Given the description of an element on the screen output the (x, y) to click on. 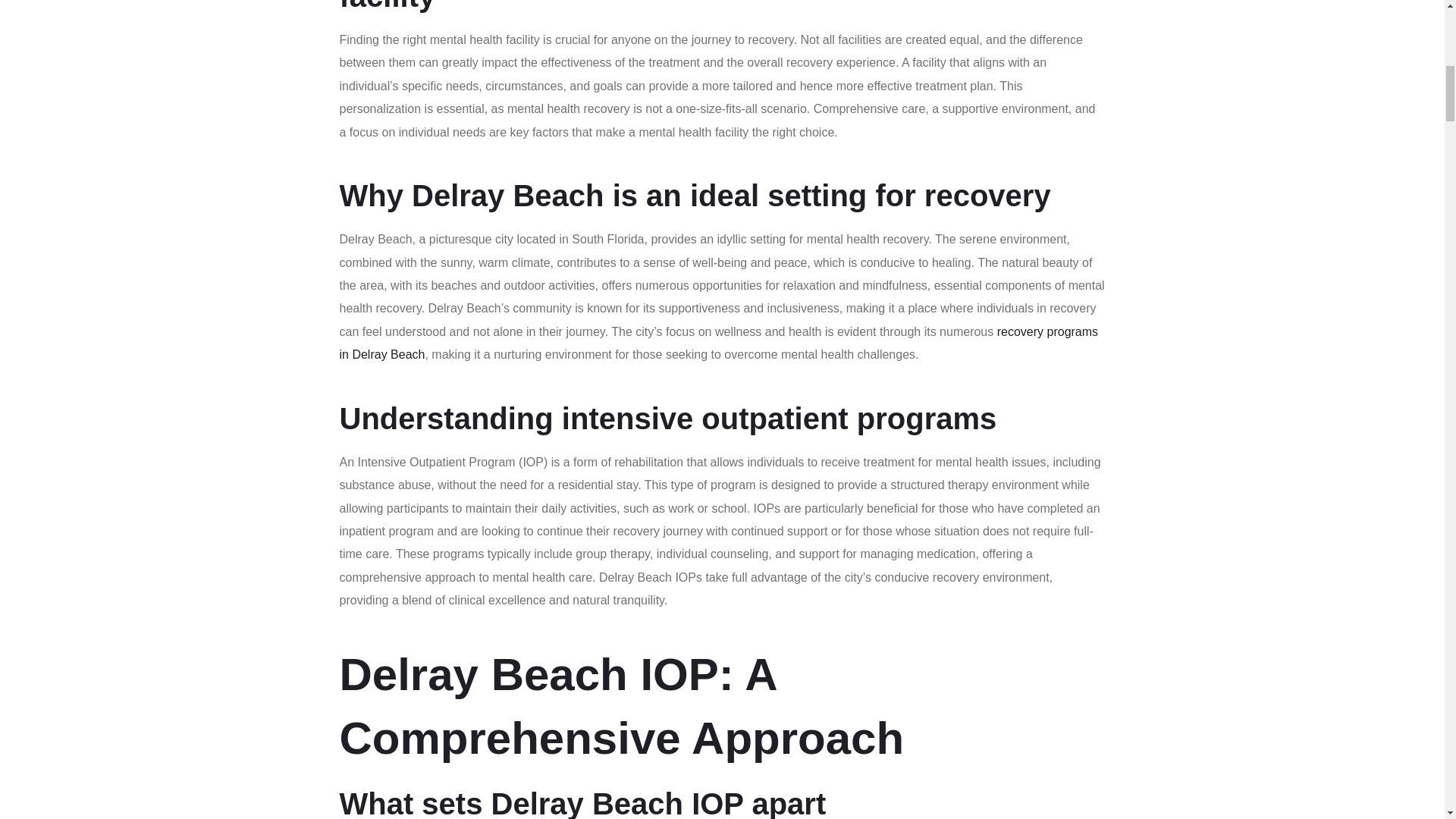
recovery programs in Delray Beach (719, 343)
